Given the description of an element on the screen output the (x, y) to click on. 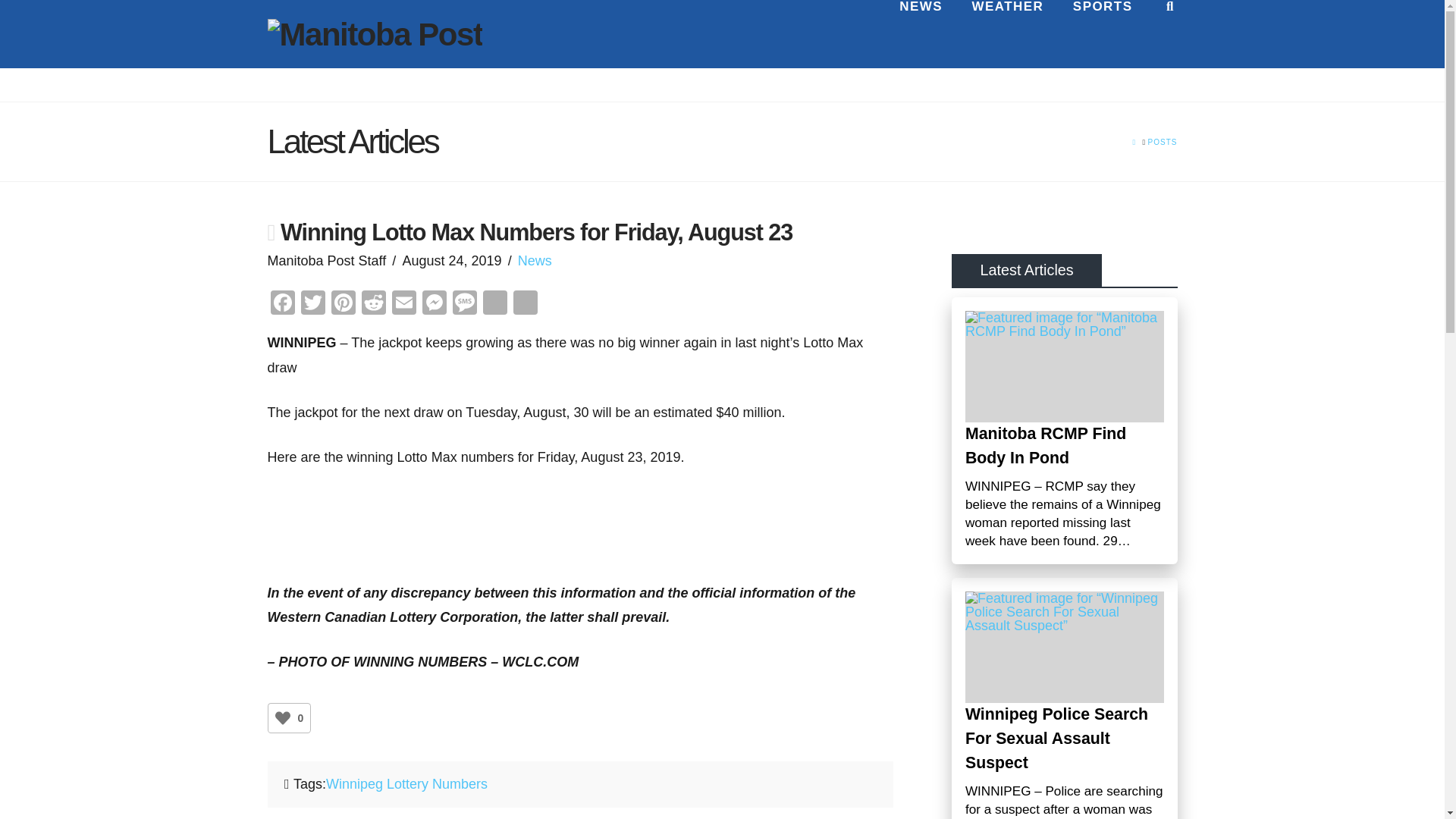
Copy Link (494, 304)
Messenger (433, 304)
SPORTS (1102, 33)
Facebook (281, 304)
Reddit (373, 304)
News (534, 260)
Email (403, 304)
Pinterest (342, 304)
Twitter (312, 304)
Message (463, 304)
